Given the description of an element on the screen output the (x, y) to click on. 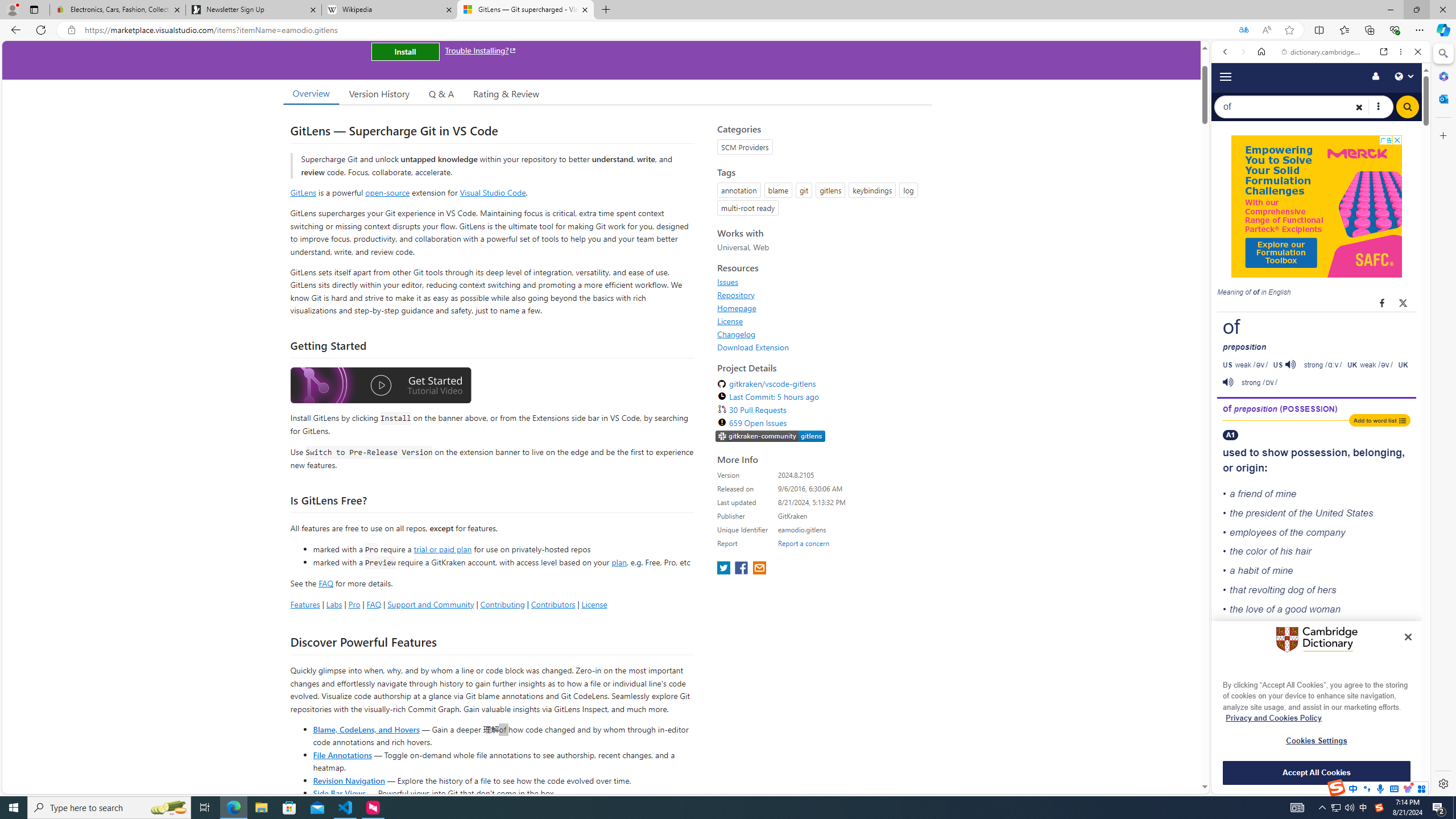
open-source (387, 192)
plan (618, 562)
origin (1250, 467)
Search Filter, WEB (1230, 192)
WEB   (1230, 192)
Choose a dictionary (1378, 106)
GitLens (303, 192)
English (Uk) (1320, 353)
Changelog (820, 333)
Fewer examples (1316, 671)
Download Extension (753, 346)
